Given the description of an element on the screen output the (x, y) to click on. 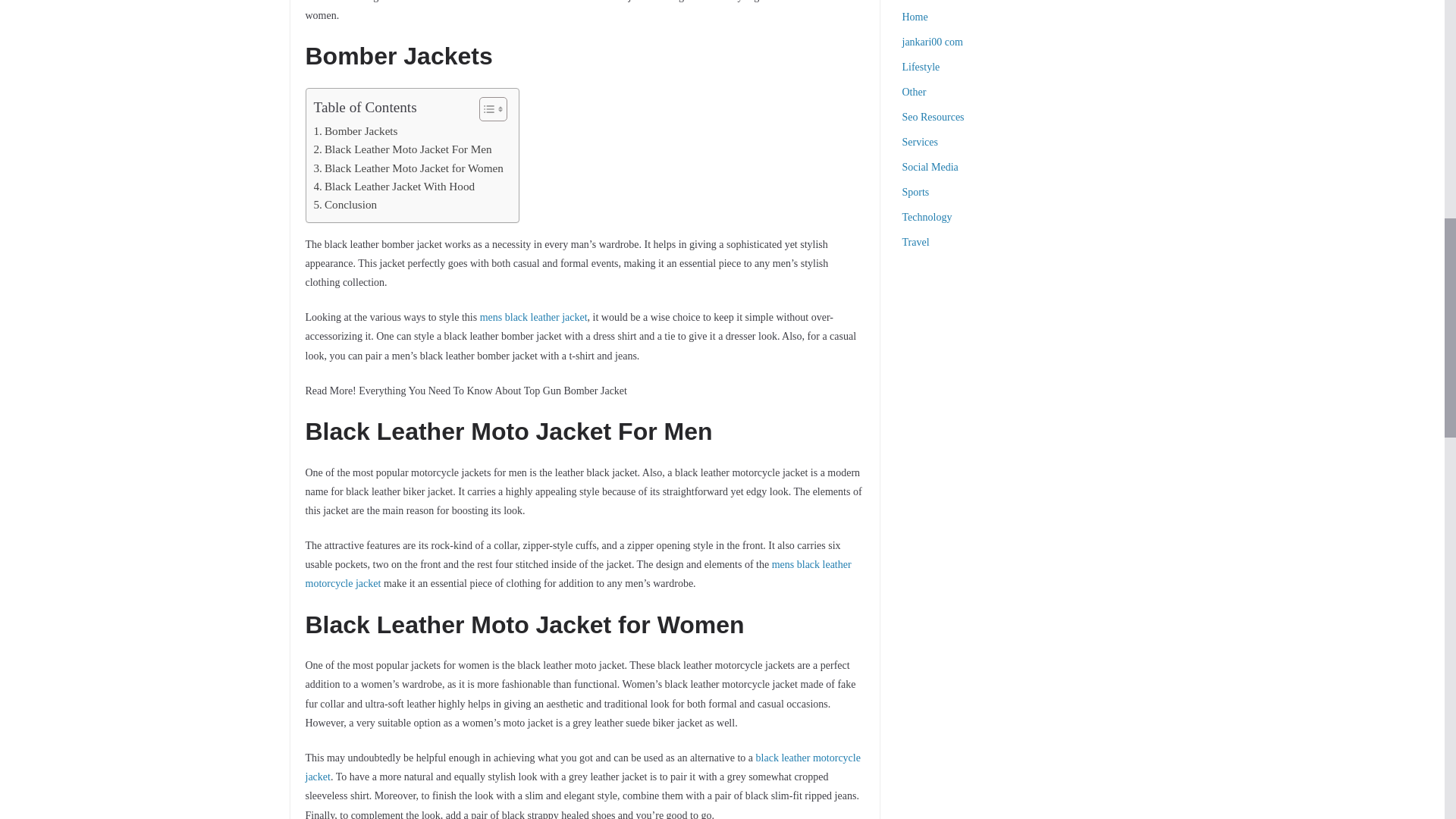
Conclusion (345, 204)
Conclusion (345, 204)
Bomber Jackets (355, 131)
Black Leather Moto Jacket for Women (408, 167)
mens black leather motorcycle jacket (577, 573)
Black Leather Moto Jacket For Men (403, 149)
mens black leather jacket (534, 317)
Black Leather Jacket With Hood (395, 186)
Black Leather Moto Jacket For Men (403, 149)
Black Leather Moto Jacket for Women (408, 167)
Bomber Jackets (355, 131)
black leather motorcycle jacket (582, 767)
Black Leather Jacket With Hood (395, 186)
